Given the description of an element on the screen output the (x, y) to click on. 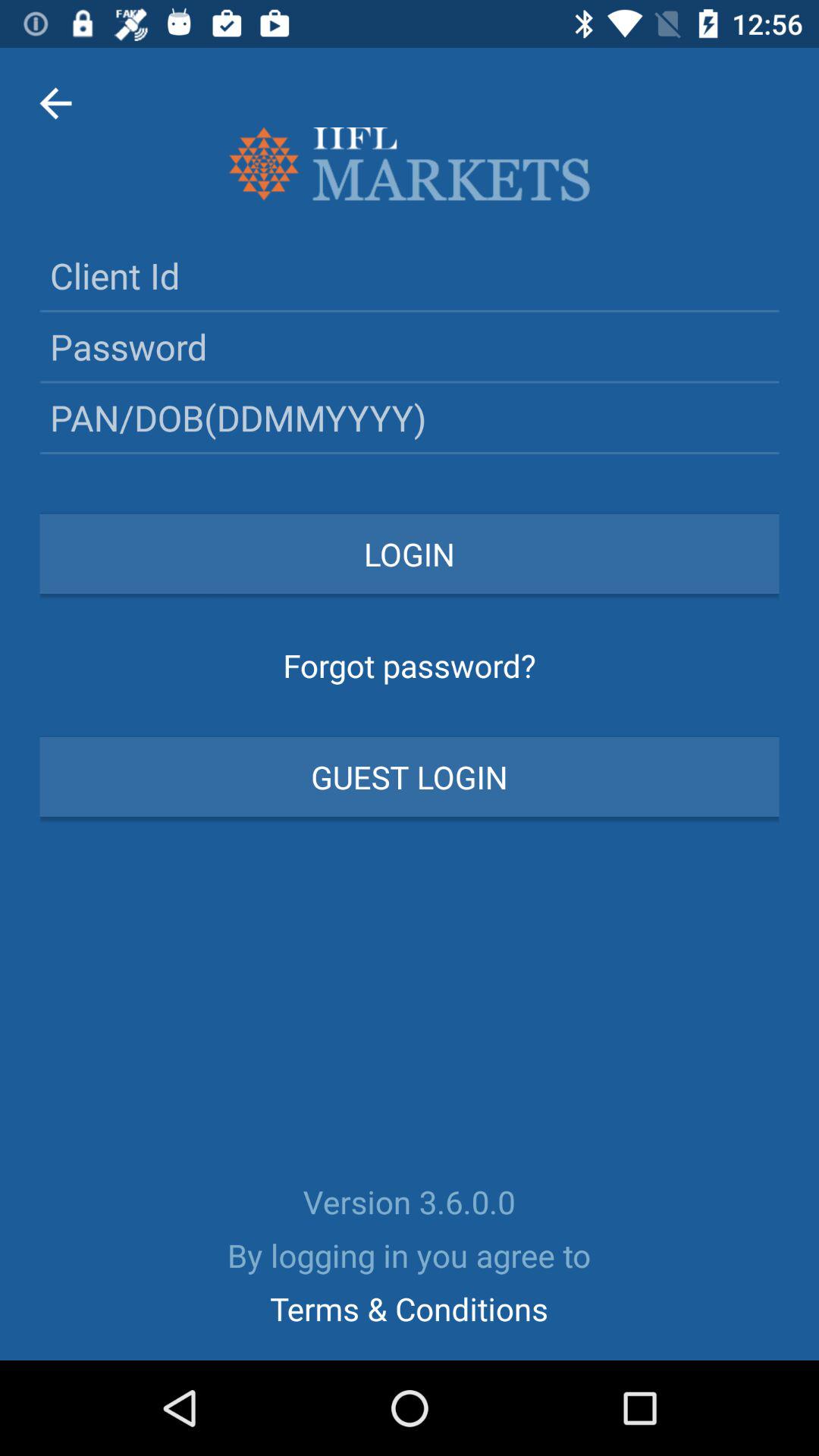
enter birthday (409, 417)
